Given the description of an element on the screen output the (x, y) to click on. 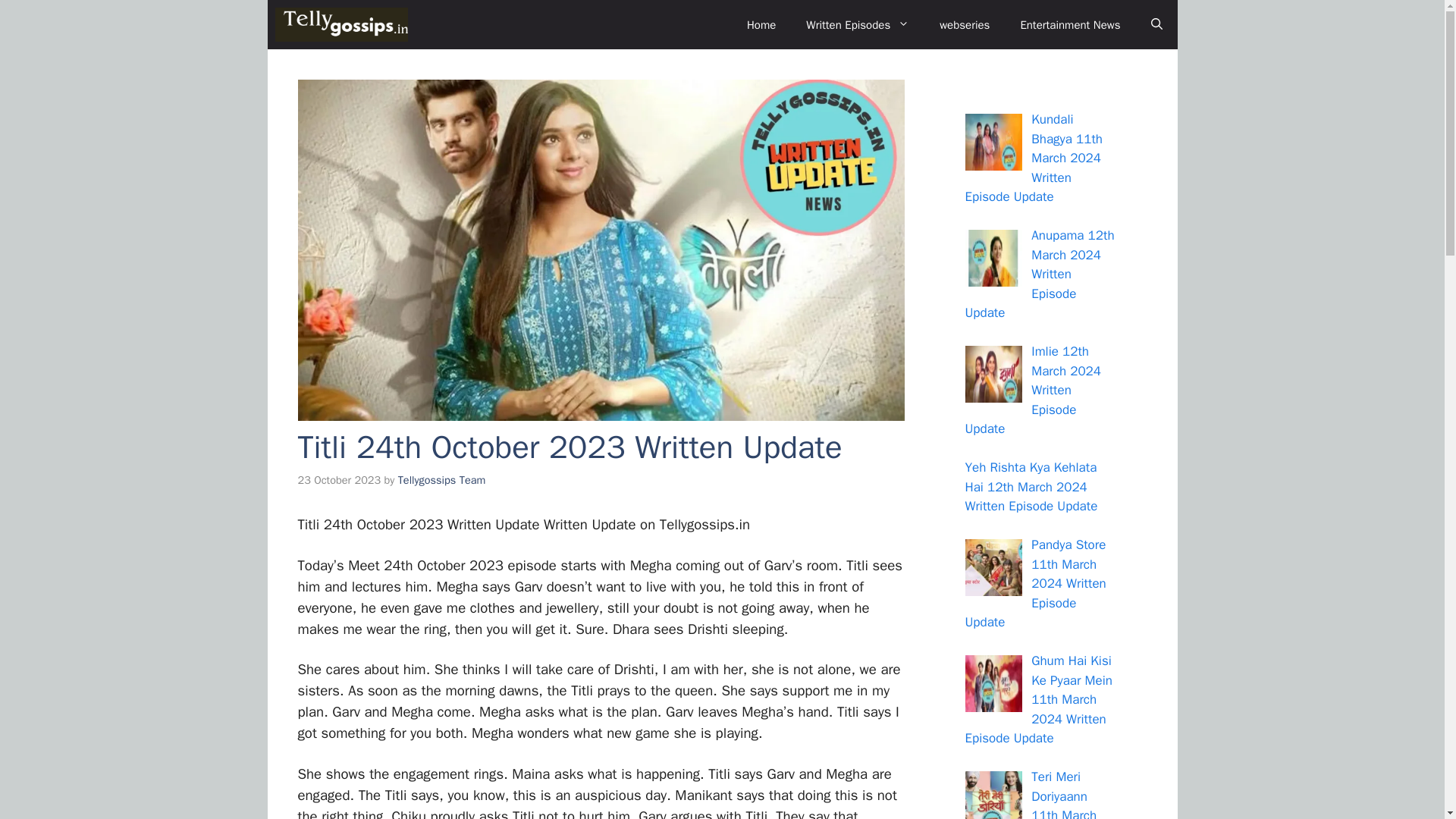
Tellygossips.in (341, 24)
View all posts by Tellygossips Team (441, 479)
Home (761, 23)
Written Episodes (857, 23)
